Given the description of an element on the screen output the (x, y) to click on. 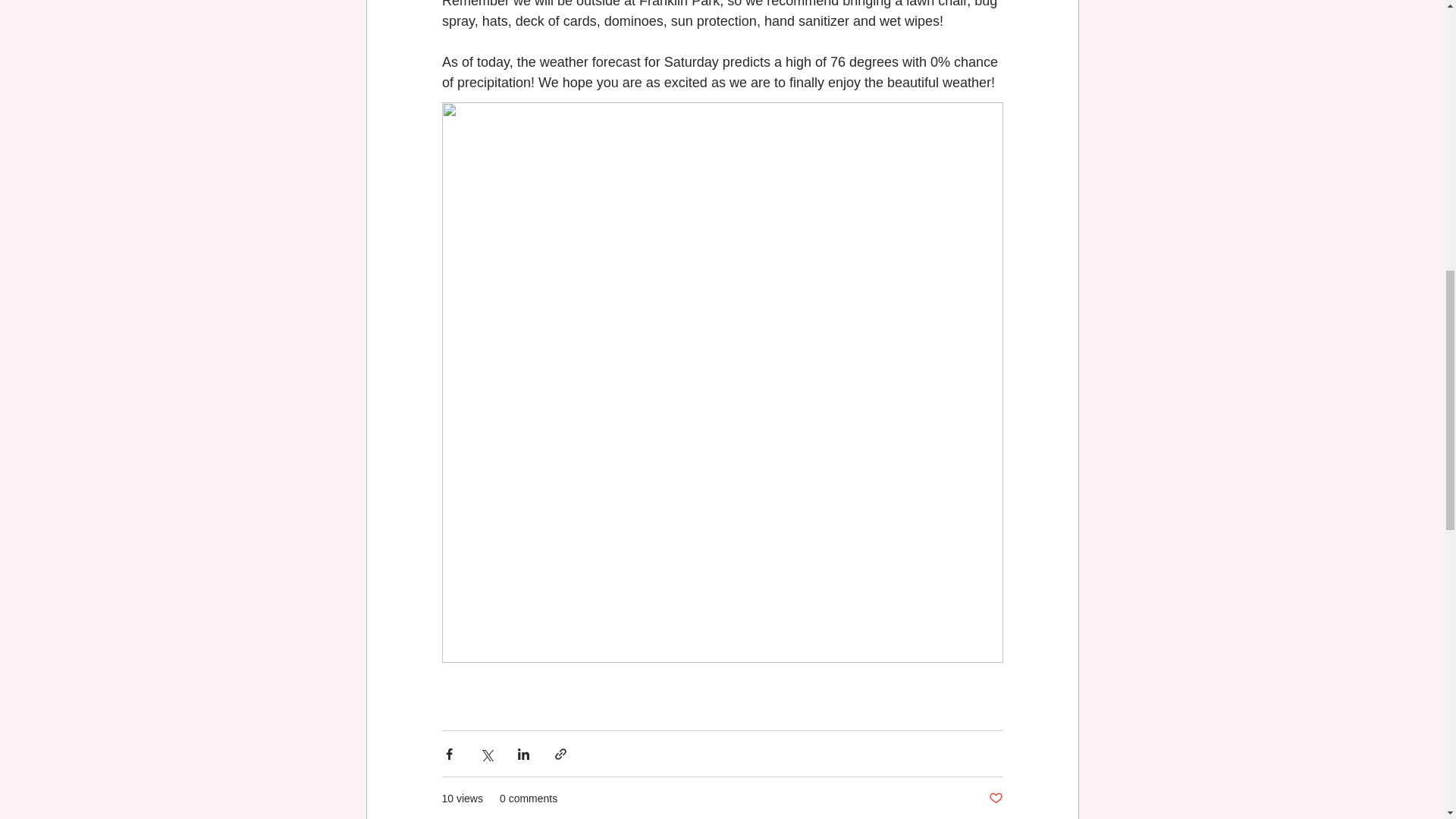
Post not marked as liked (995, 798)
